Given the description of an element on the screen output the (x, y) to click on. 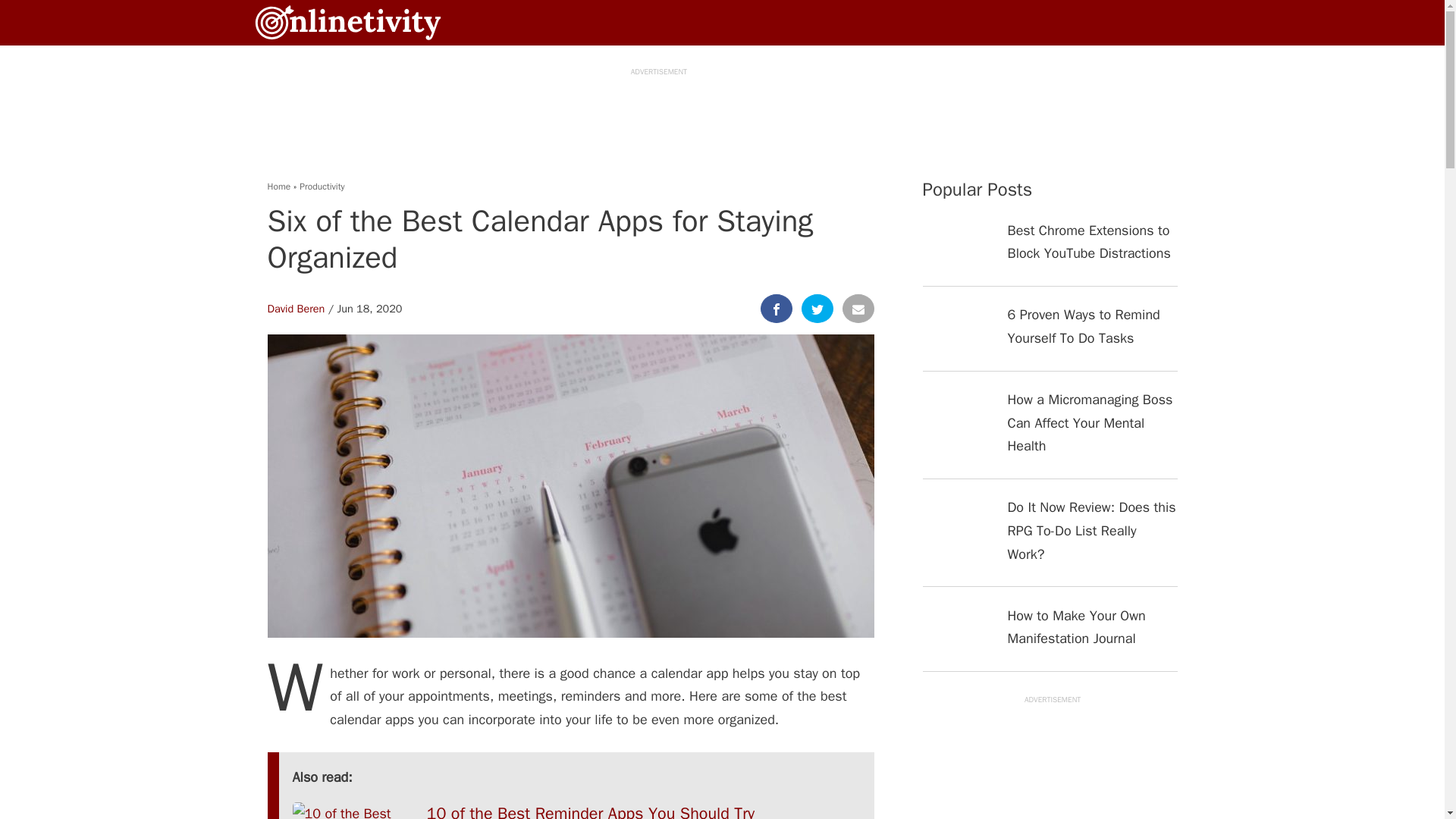
Email this article to your friends (857, 308)
How to Make Your Own Manifestation Journal (1048, 637)
Share this article in Twitter (817, 308)
David Beren (295, 308)
Home (277, 186)
10 of the Best Reminder Apps You Should Try (576, 810)
Share this article in Facebook (776, 308)
How a Micromanaging Boss Can Affect Your Mental Health (1048, 433)
Productivity (321, 186)
Do It Now Review: Does this RPG To-Do List Really Work? (1048, 541)
6 Proven Ways to Remind Yourself To Do Tasks (1048, 336)
Best Chrome Extensions to Block YouTube Distractions (1048, 252)
10 of the Best Reminder Apps You Should Try (576, 810)
